Given the description of an element on the screen output the (x, y) to click on. 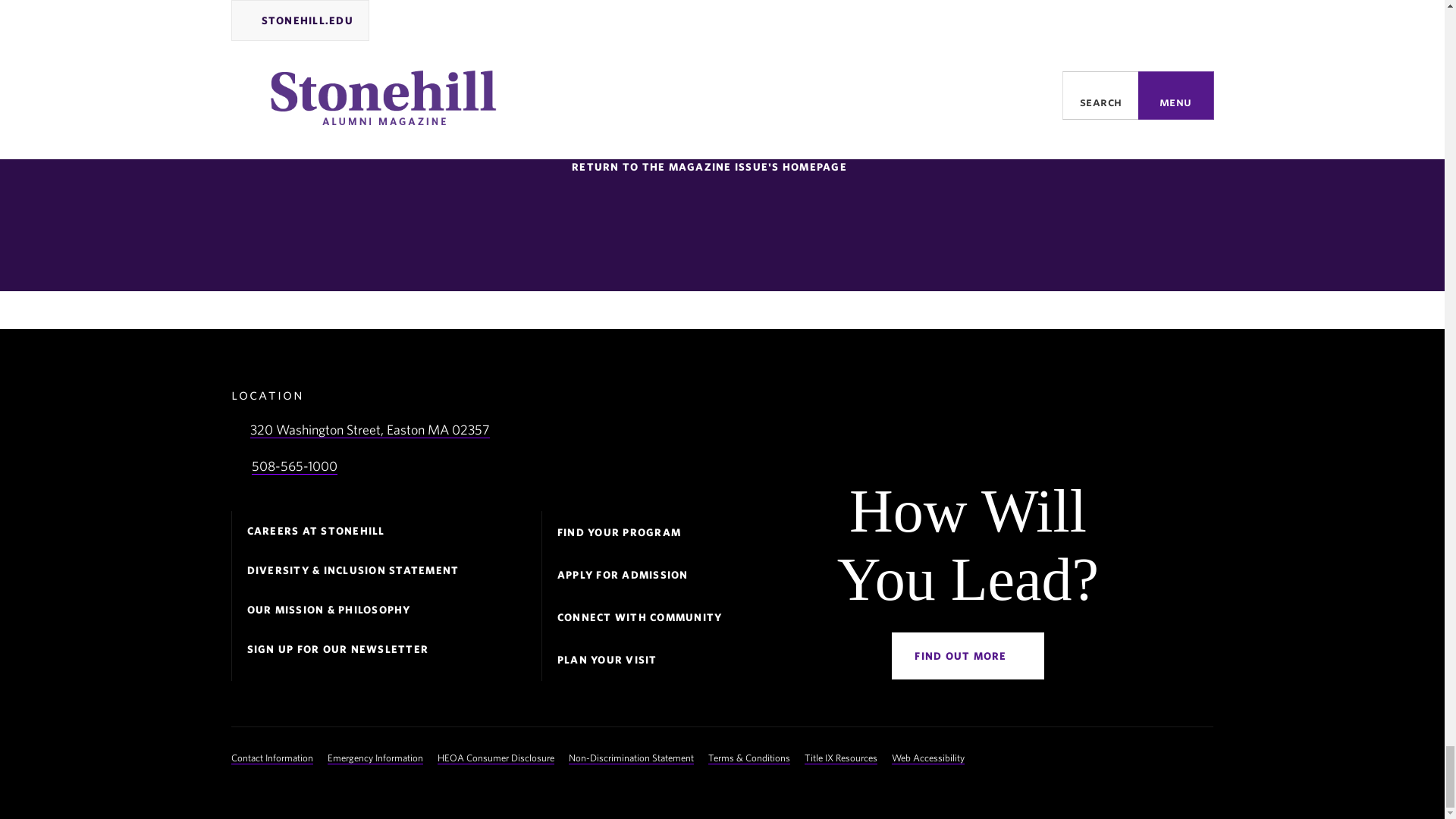
LinkedIn (1174, 757)
FIND YOUR PROGRAM (619, 532)
Emergency Information (375, 758)
Instagram (1145, 757)
RETURN TO THE MAGAZINE ISSUE'S HOMEPAGE (716, 166)
Facebook (1084, 757)
Title IX Resources (841, 758)
Twitter (1114, 757)
CONNECT WITH COMMUNITY (639, 617)
508-565-1000 (294, 466)
APPLY FOR ADMISSION (622, 574)
HEOA Consumer Disclosure (496, 758)
Non-Discrimination Statement (631, 758)
320 Washington Street, Easton MA 02357 (369, 429)
Web Accessibility (927, 758)
